Given the description of an element on the screen output the (x, y) to click on. 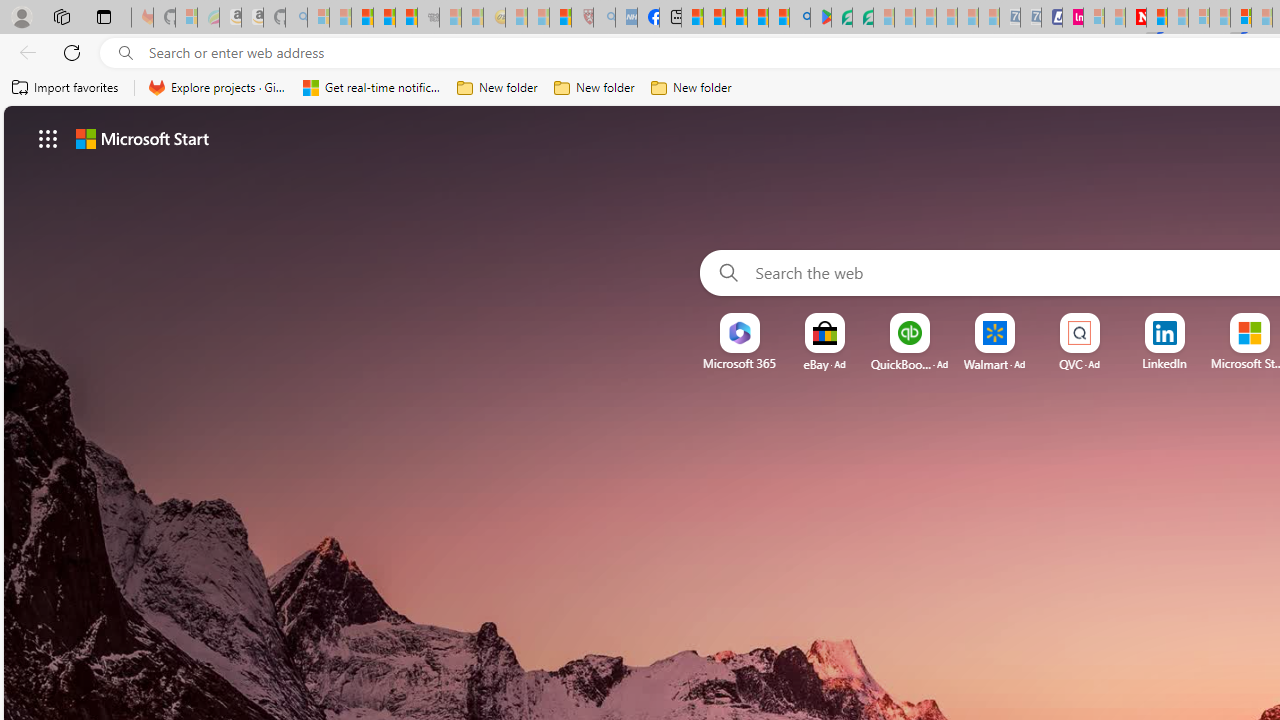
google - Search (799, 17)
Trusted Community Engagement and Contributions | Guidelines (1156, 17)
Import favorites (65, 88)
LinkedIn (1163, 363)
Recipes - MSN - Sleeping (516, 17)
MSNBC - MSN (692, 17)
Robert H. Shmerling, MD - Harvard Health - Sleeping (582, 17)
14 Common Myths Debunked By Scientific Facts - Sleeping (1177, 17)
To get missing image descriptions, open the context menu. (739, 333)
